Given the description of an element on the screen output the (x, y) to click on. 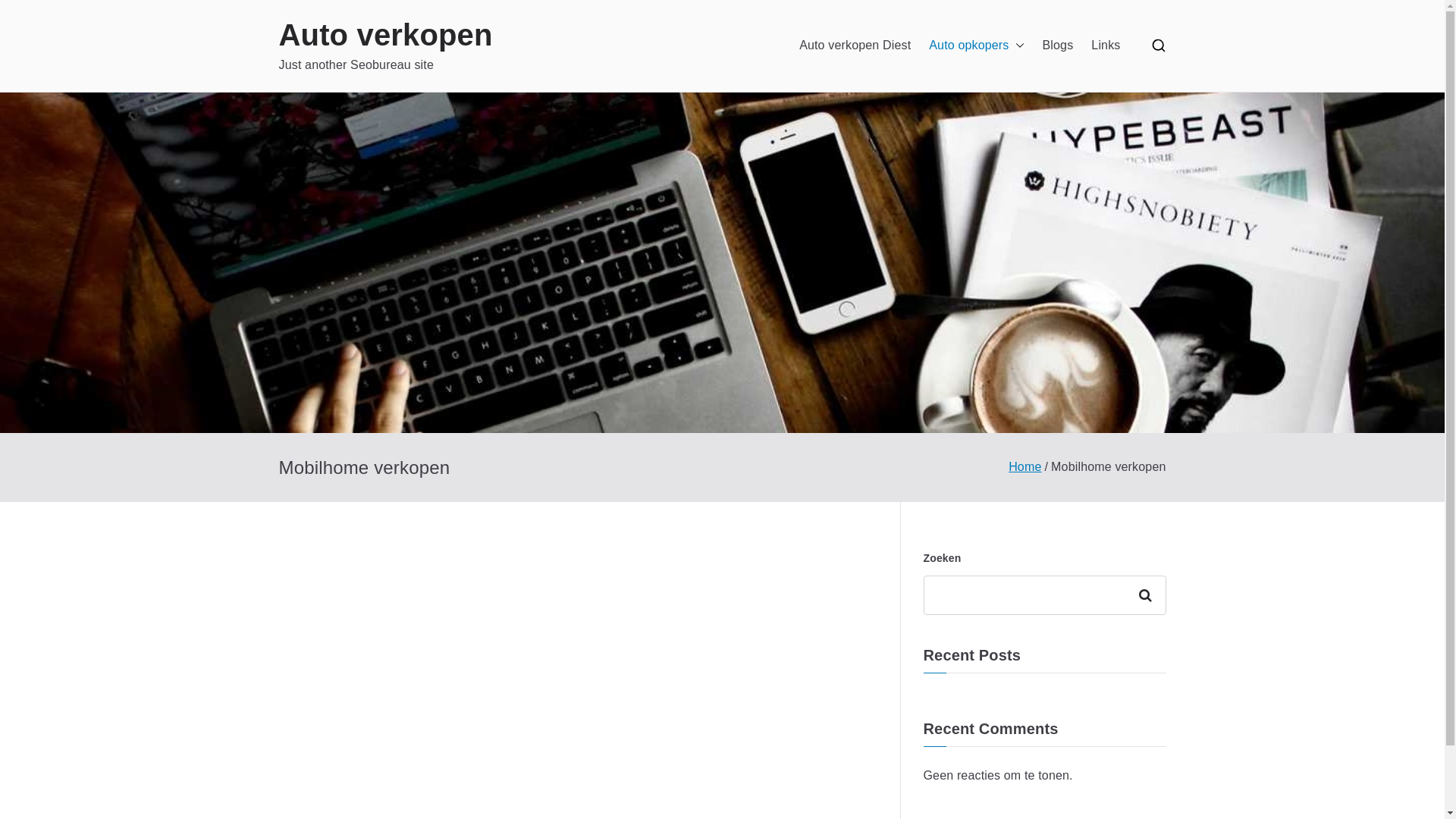
Home Element type: text (1024, 466)
Auto verkopen Element type: text (385, 34)
Blogs Element type: text (1057, 45)
Zoeken Element type: text (1147, 595)
Links Element type: text (1105, 45)
Search Element type: text (26, 12)
Auto verkopen Diest Element type: text (854, 45)
Auto opkopers Element type: text (975, 45)
